Given the description of an element on the screen output the (x, y) to click on. 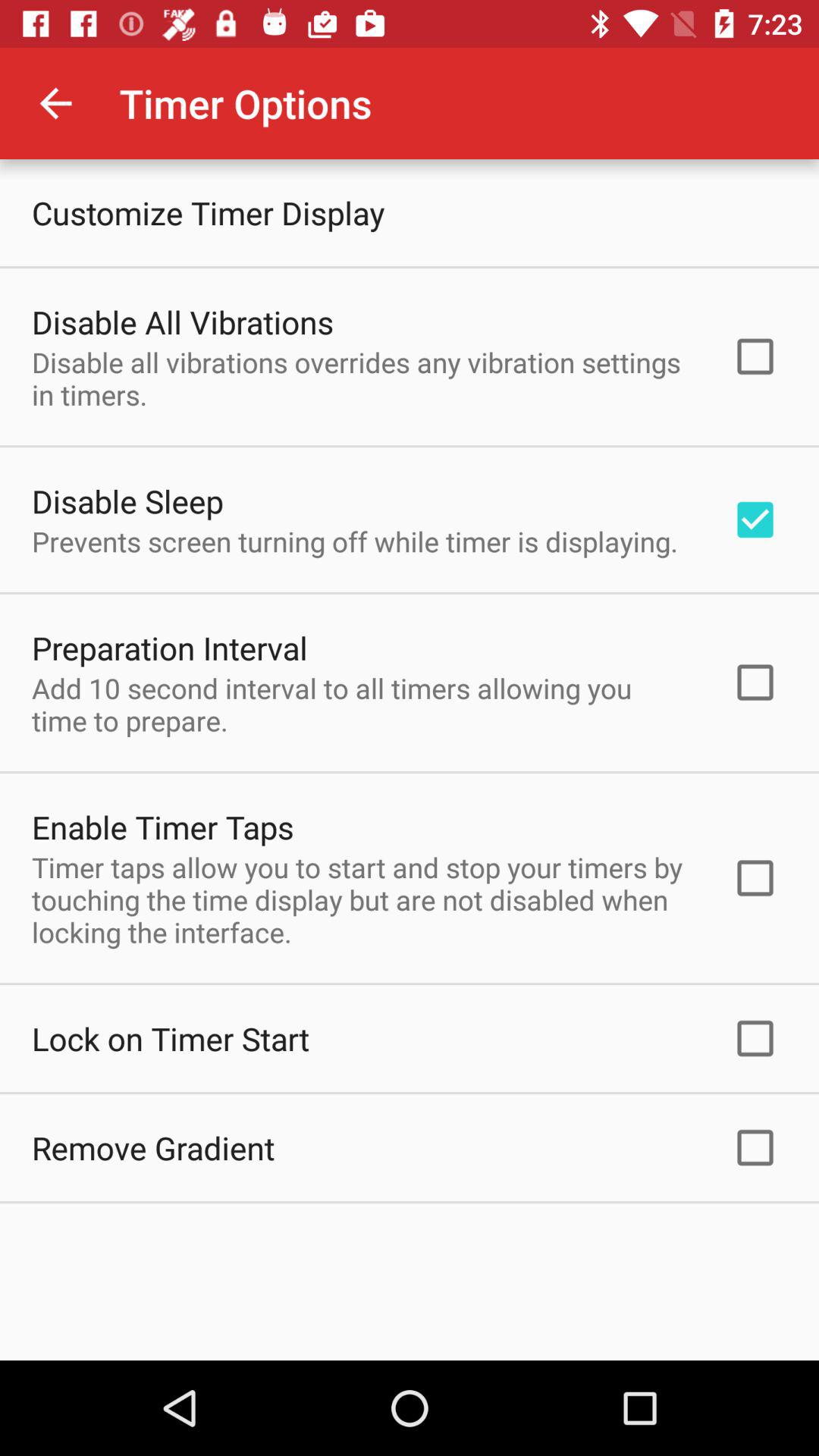
turn on the icon above customize timer display (55, 103)
